Given the description of an element on the screen output the (x, y) to click on. 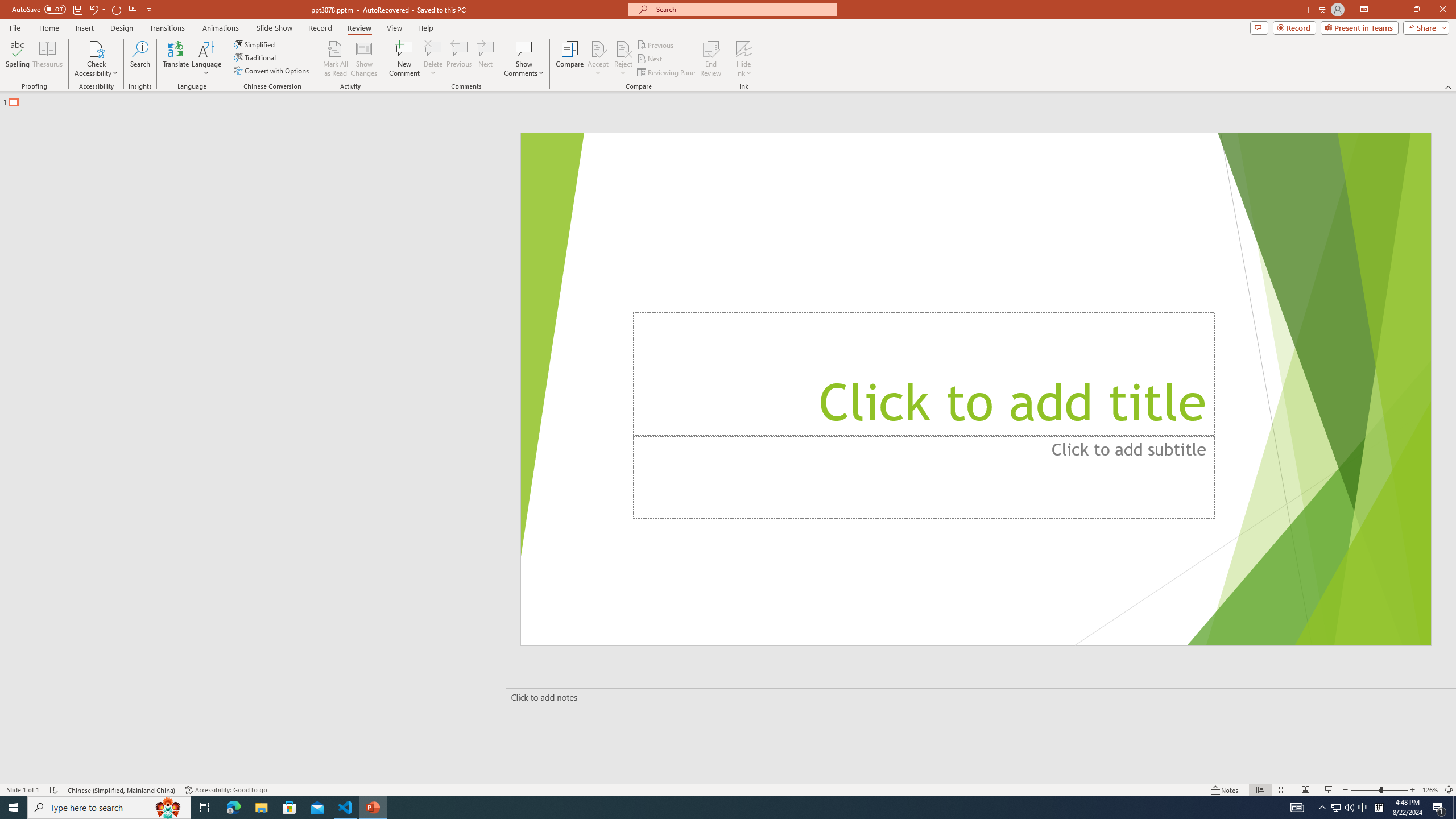
End Review (710, 58)
Zoom 126% (1430, 790)
Show Changes (363, 58)
New Comment (403, 58)
